Given the description of an element on the screen output the (x, y) to click on. 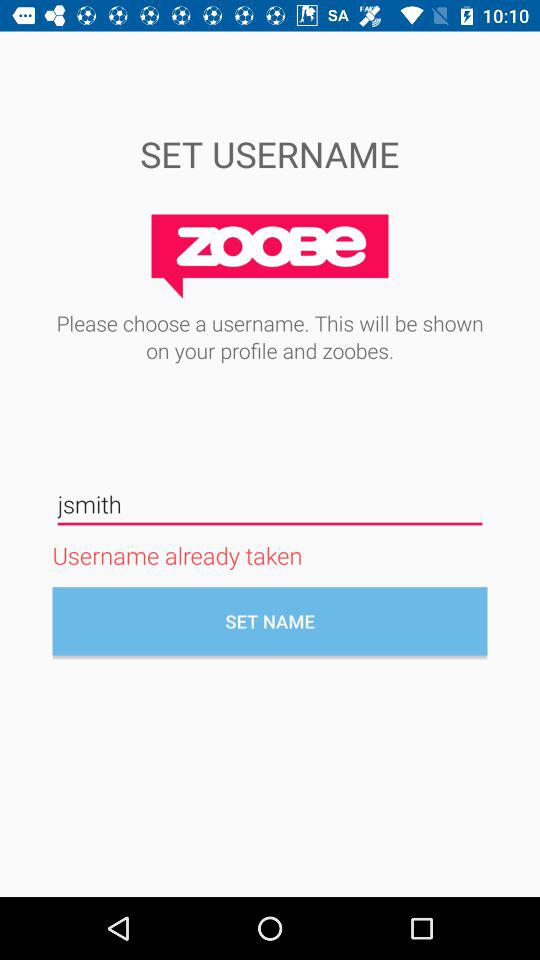
click the item below the please choose a (269, 504)
